Given the description of an element on the screen output the (x, y) to click on. 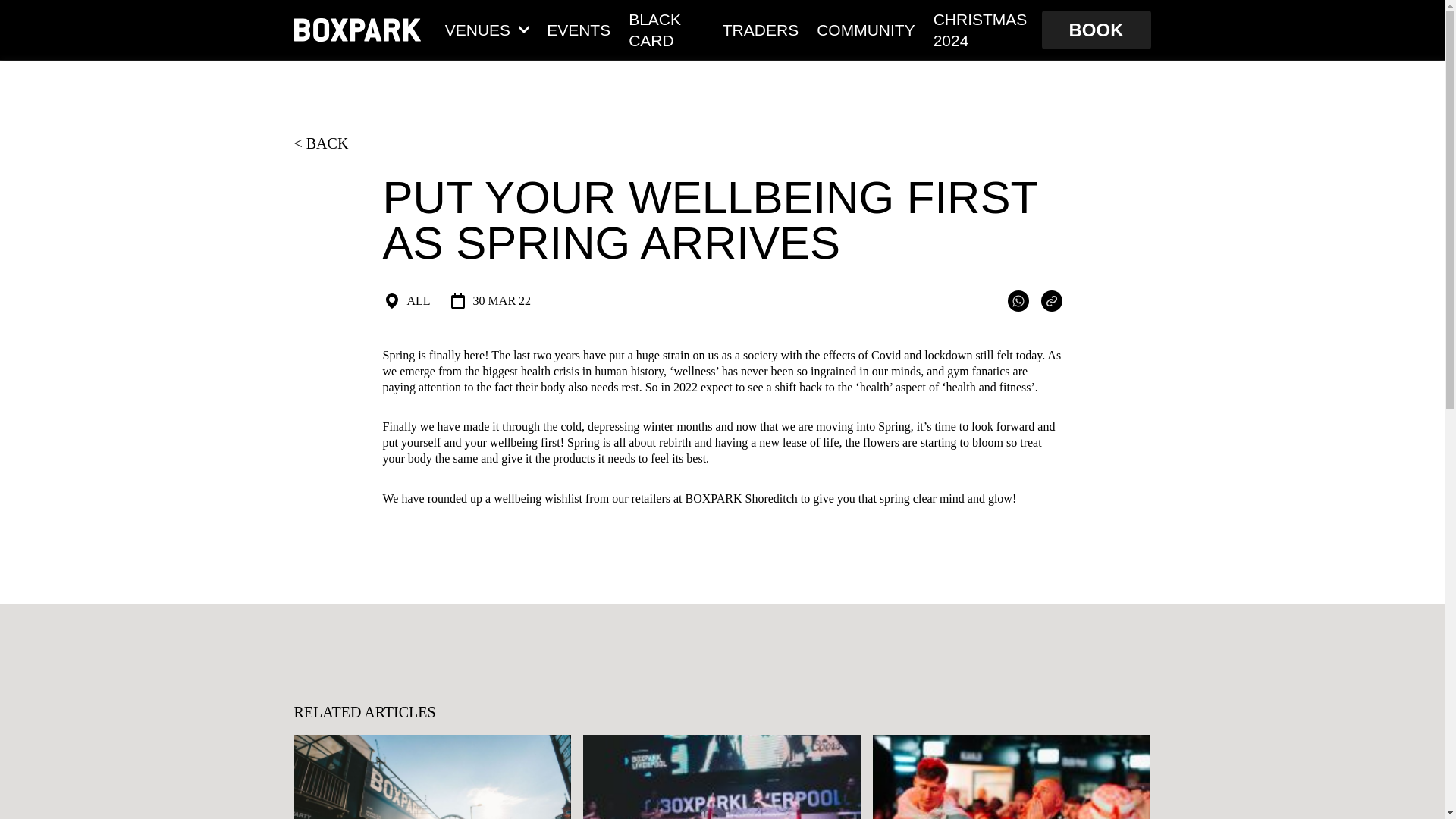
BLACK CARD (666, 29)
CHRISTMAS 2024 (982, 29)
VENUES (486, 29)
TRADERS (759, 29)
COMMUNITY (865, 29)
EVENTS (578, 29)
